Given the description of an element on the screen output the (x, y) to click on. 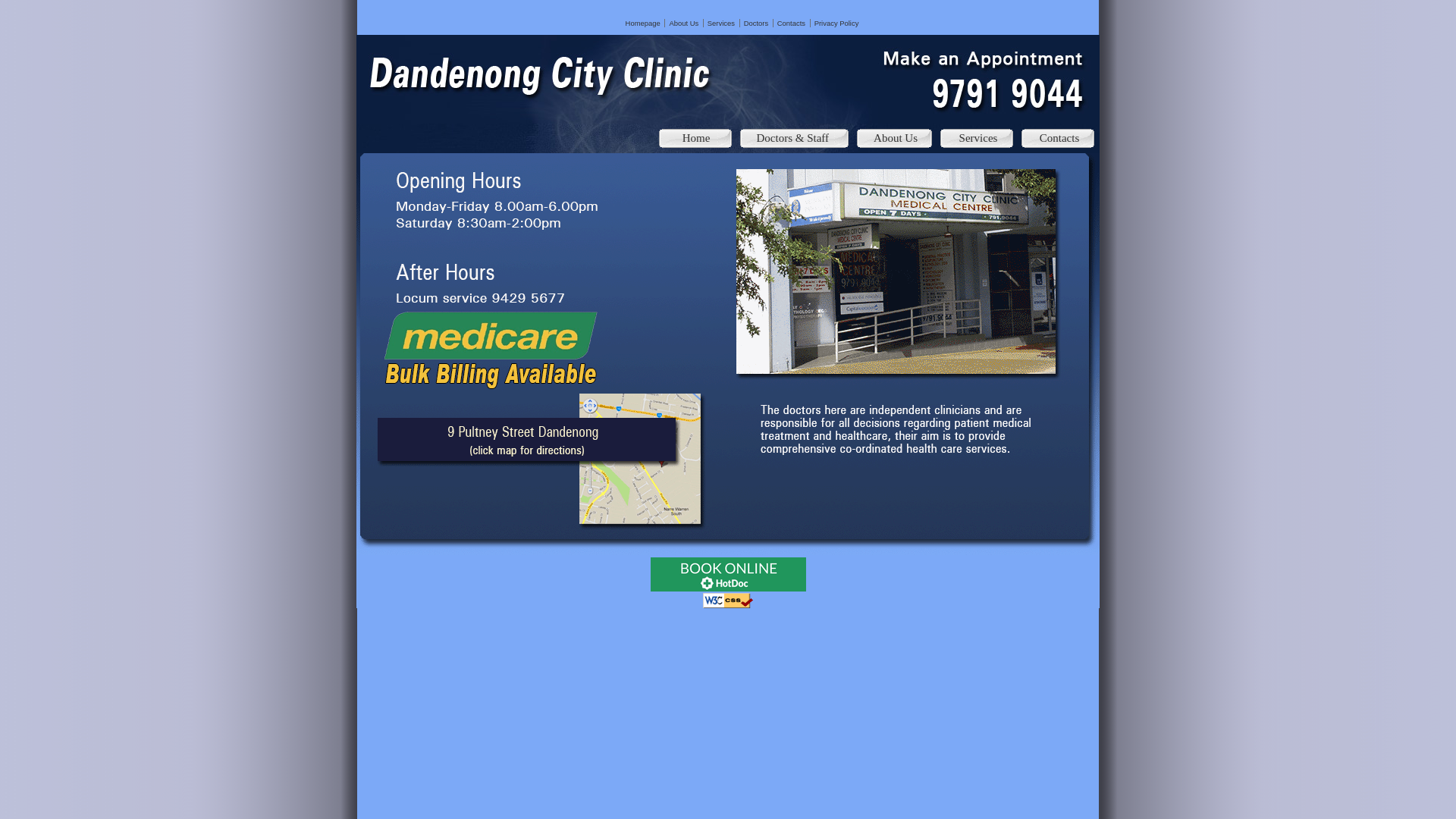
Doctors & Staff Element type: text (793, 137)
Home Element type: text (693, 137)
Services Element type: text (720, 22)
Doctors Element type: text (755, 22)
Privacy Policy Element type: text (836, 22)
Contacts Element type: text (791, 22)
About Us Element type: text (683, 22)
Homepage Element type: text (642, 22)
About Us Element type: text (892, 137)
Services Element type: text (975, 137)
Contacts Element type: text (1056, 137)
